Given the description of an element on the screen output the (x, y) to click on. 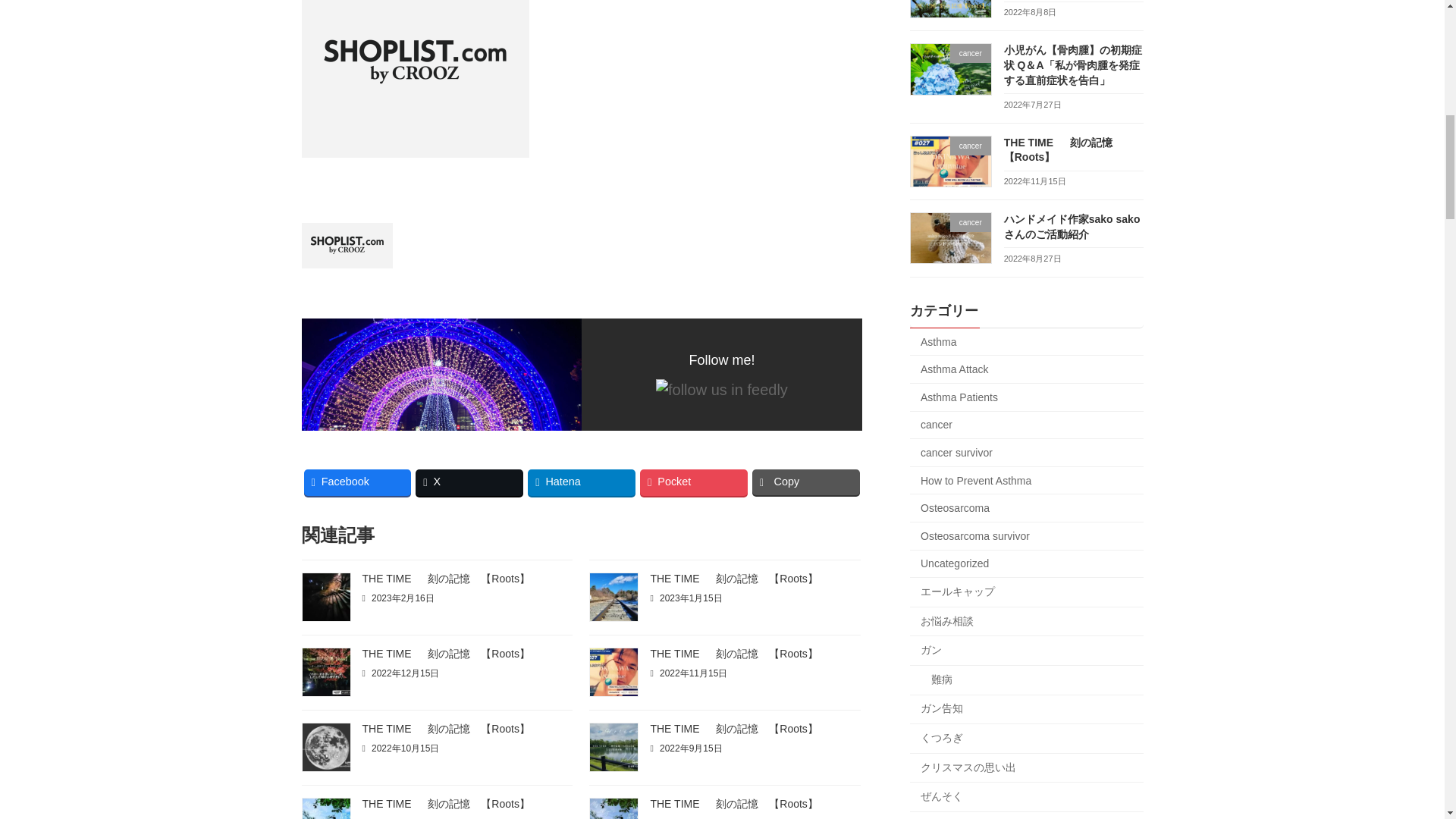
Facebook (356, 482)
X (468, 482)
Copy (806, 482)
Pocket (694, 482)
Hatena (580, 482)
